Given the description of an element on the screen output the (x, y) to click on. 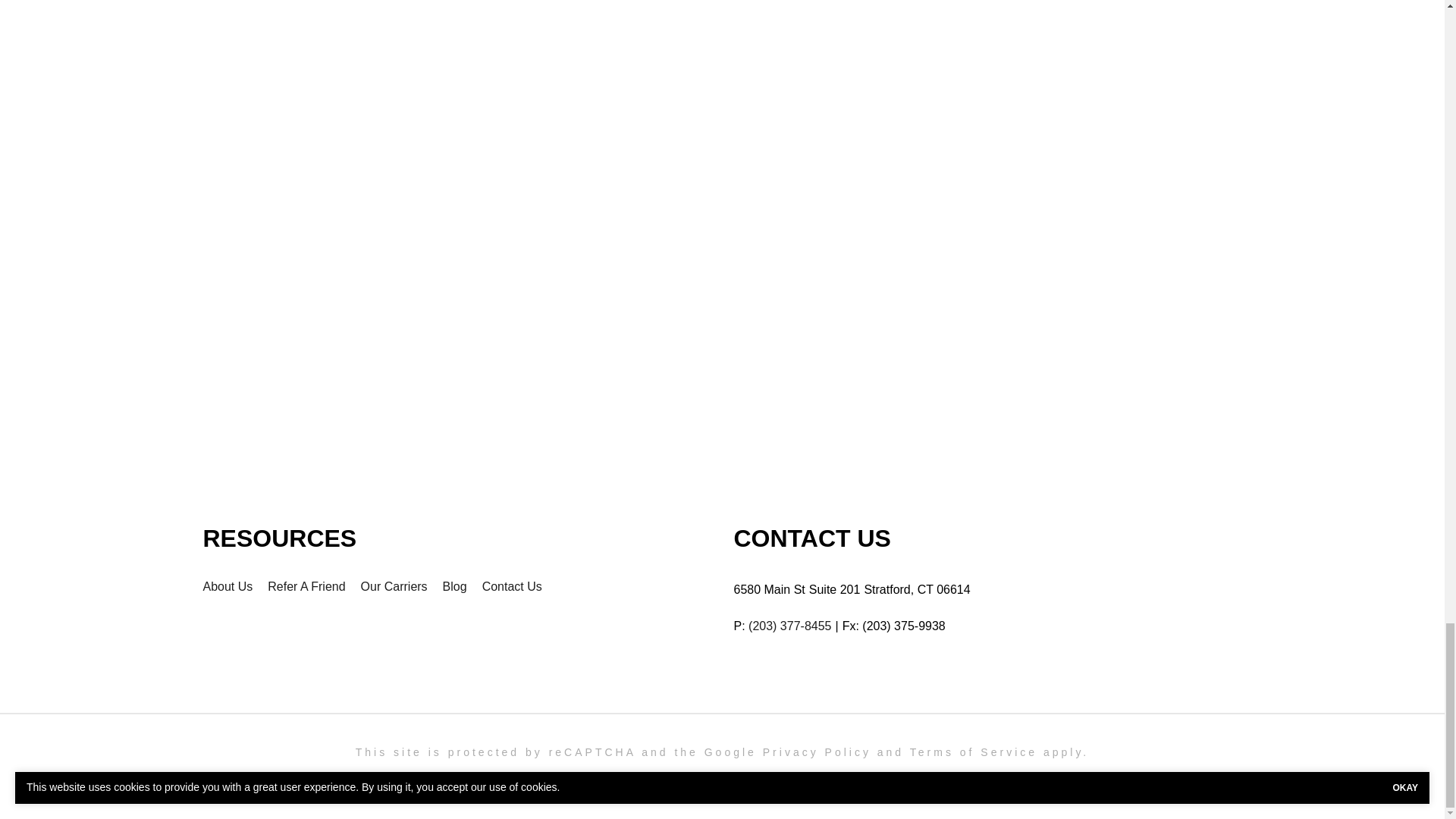
Zywave Websites (880, 779)
